Given the description of an element on the screen output the (x, y) to click on. 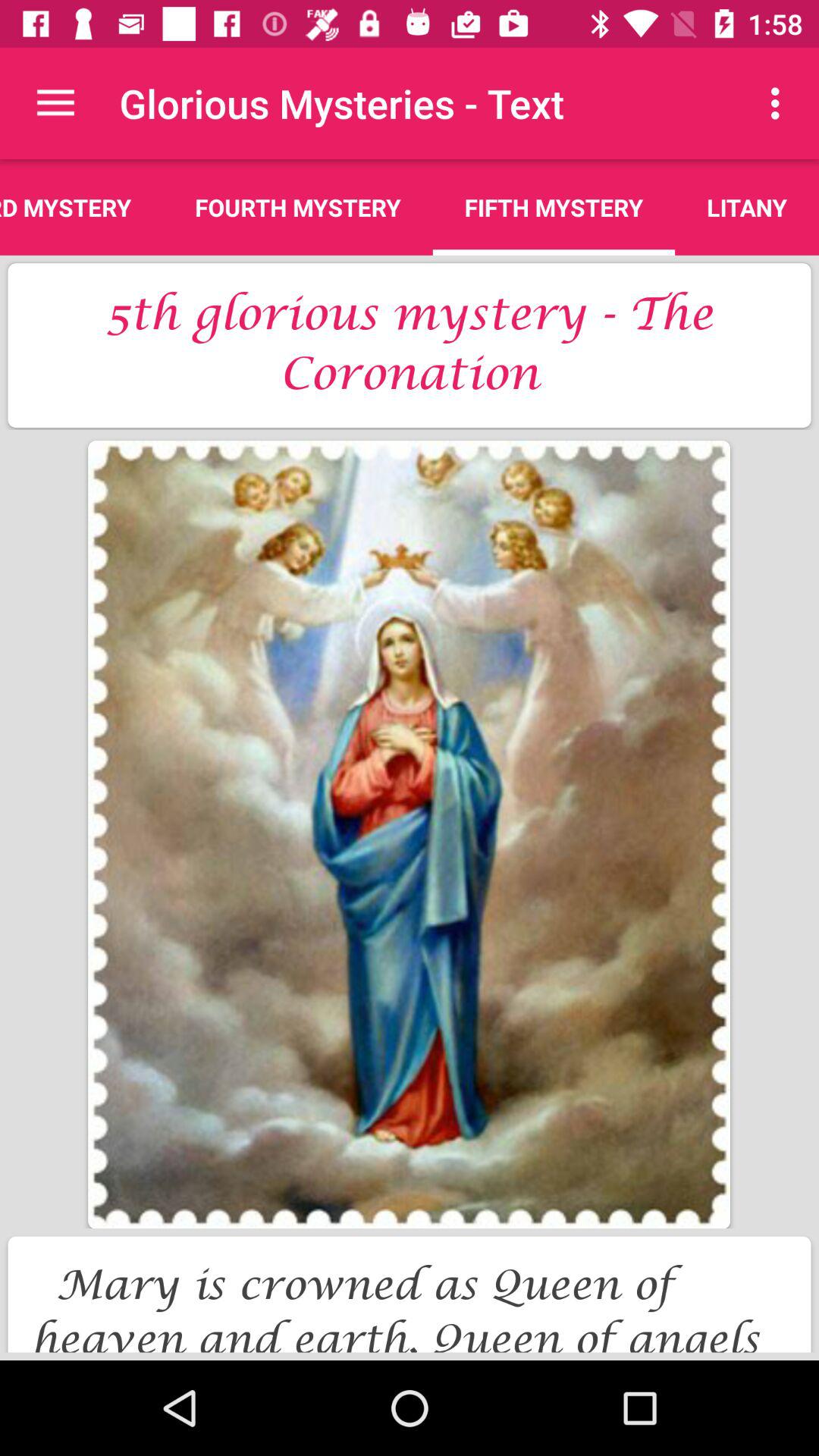
choose the app next to the fourth mystery (553, 207)
